Given the description of an element on the screen output the (x, y) to click on. 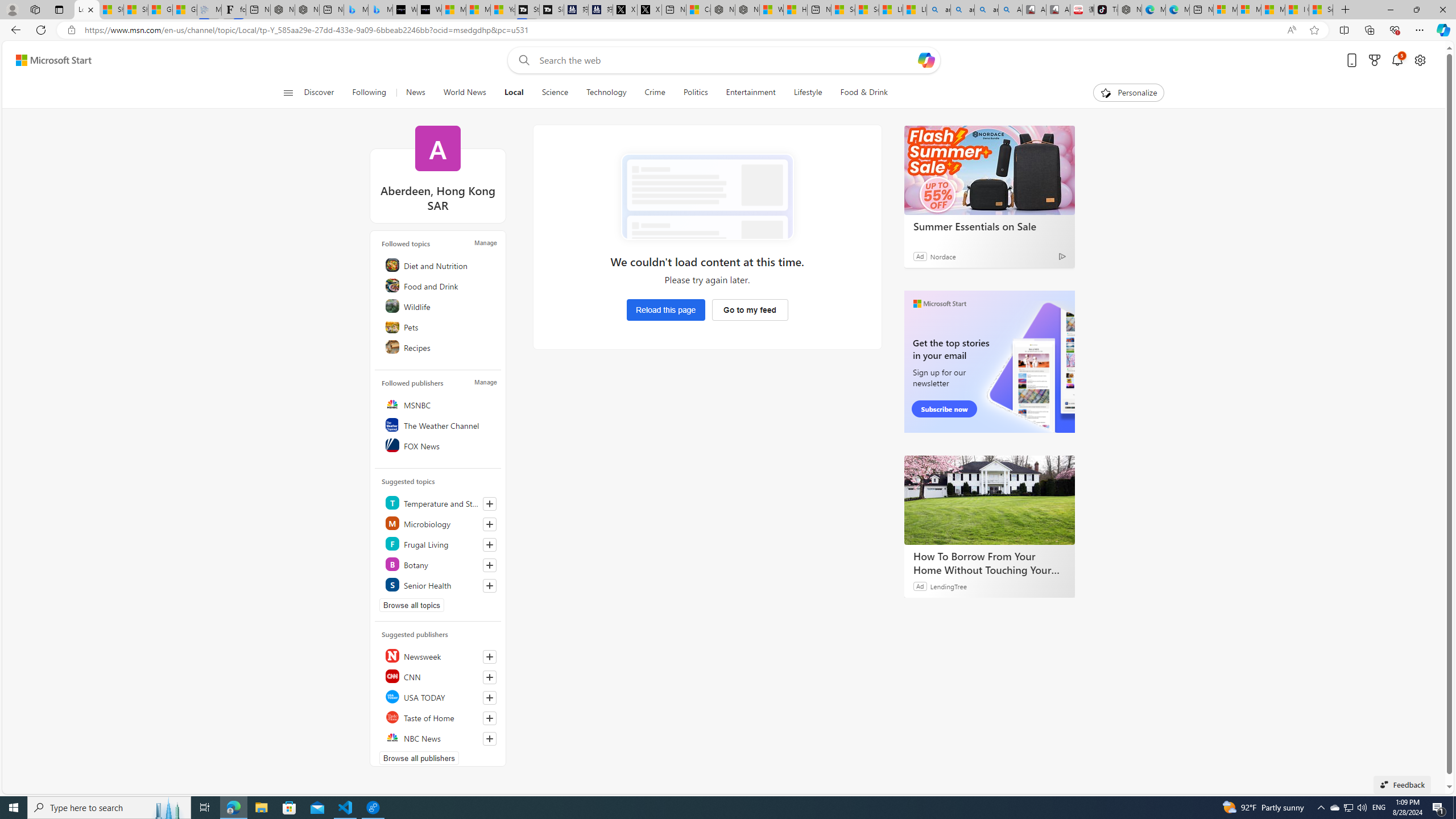
MSNBC (439, 404)
USA TODAY (439, 696)
Follow this topic (489, 585)
Pets (439, 326)
Browse all topics (412, 604)
Food & Drink (859, 92)
Follow this source (489, 738)
